Given the description of an element on the screen output the (x, y) to click on. 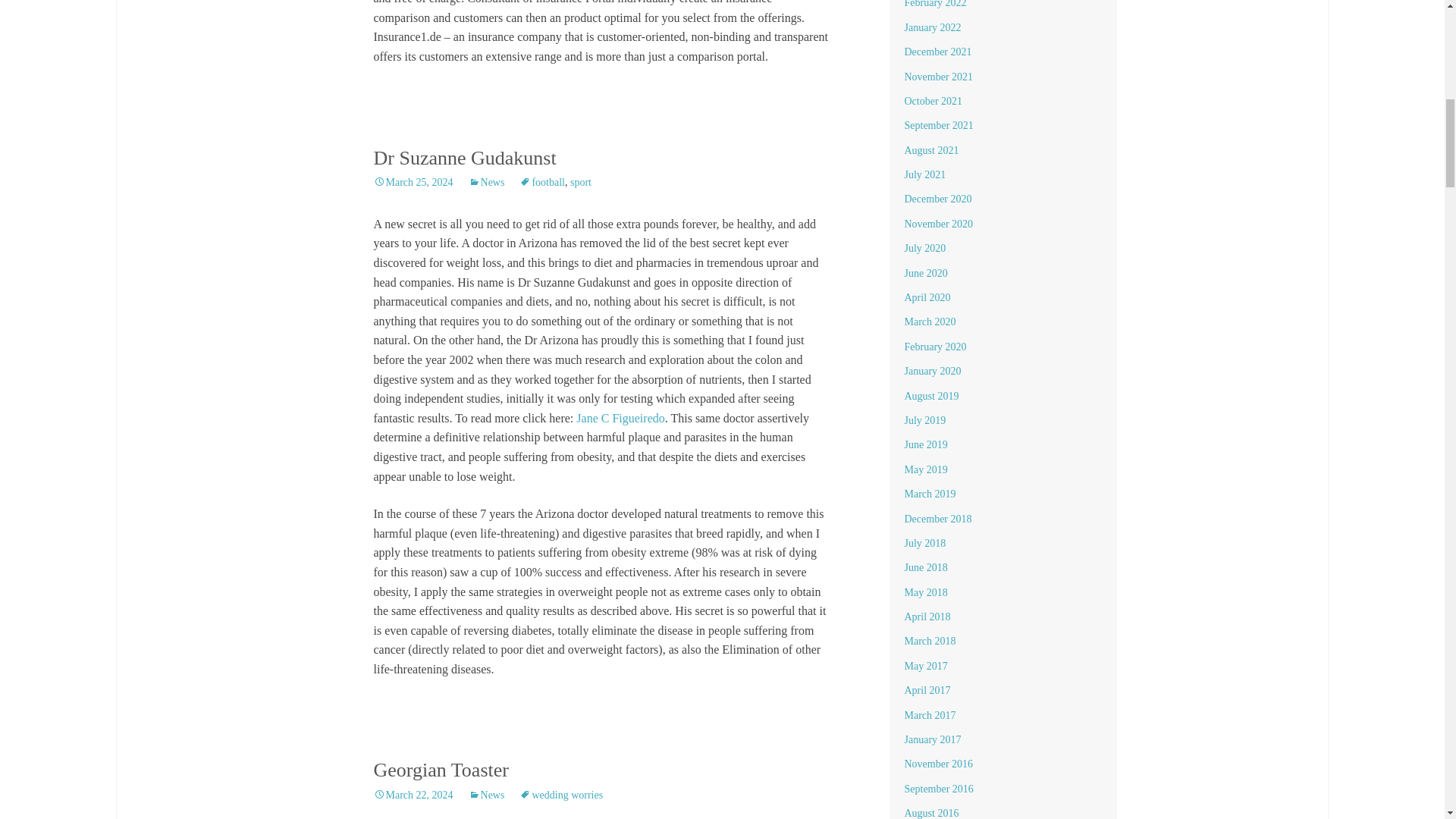
March 22, 2024 (412, 794)
Georgian Toaster (440, 770)
News (486, 794)
wedding worries (560, 794)
Permalink to Dr Suzanne Gudakunst (412, 182)
football (541, 182)
Permalink to Georgian Toaster (412, 794)
March 25, 2024 (412, 182)
Dr Suzanne Gudakunst (464, 157)
Jane C Figueiredo (619, 418)
sport (580, 182)
News (486, 182)
